Given the description of an element on the screen output the (x, y) to click on. 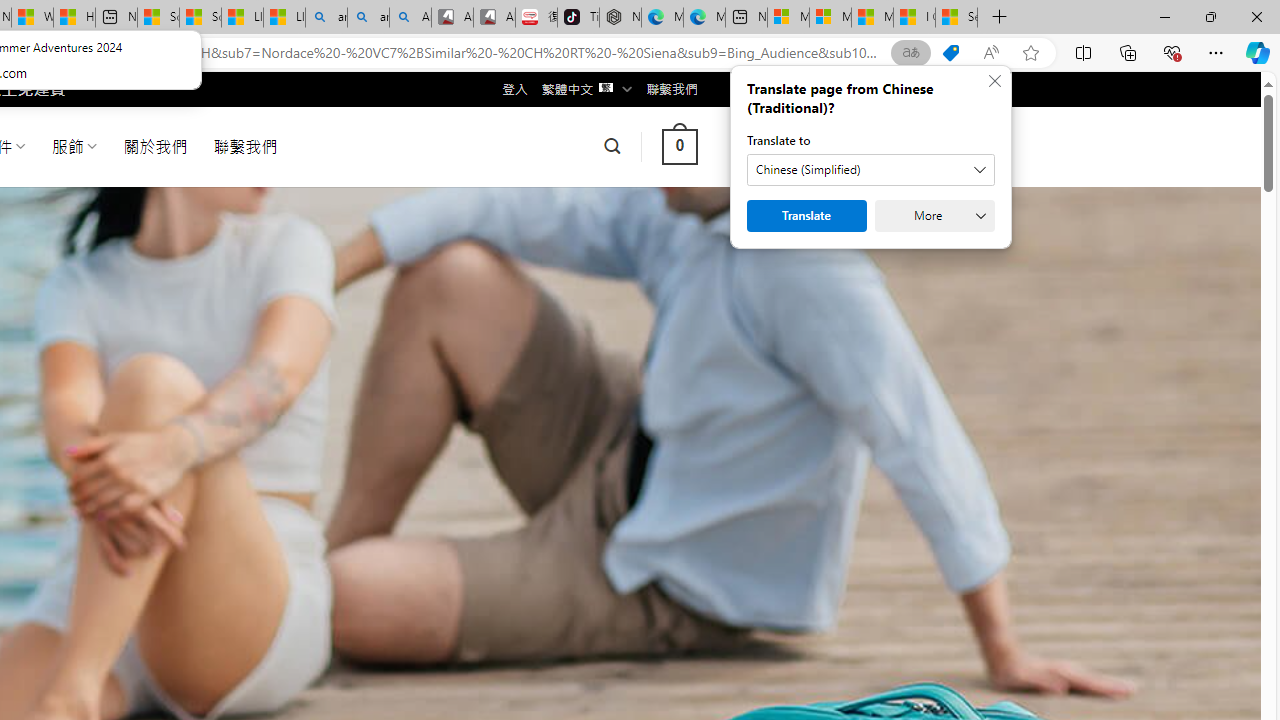
Amazon Echo Robot - Search Images (410, 17)
This site has coupons! Shopping in Microsoft Edge (950, 53)
All Cubot phones (493, 17)
